Given the description of an element on the screen output the (x, y) to click on. 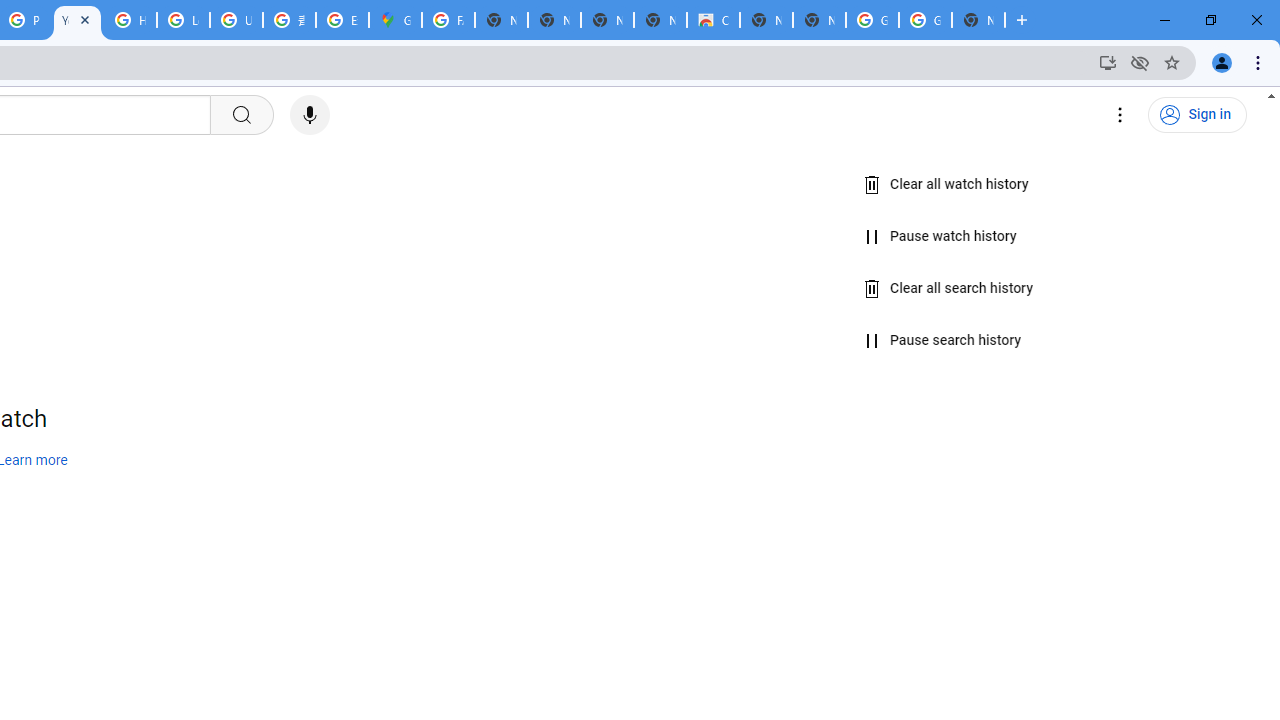
Install YouTube (1107, 62)
Search (240, 115)
Sign in (1197, 115)
Pause watch history (940, 236)
How Chrome protects your passwords - Google Chrome Help (130, 20)
Chrome Web Store (713, 20)
New Tab (978, 20)
Pause search history (942, 341)
